Given the description of an element on the screen output the (x, y) to click on. 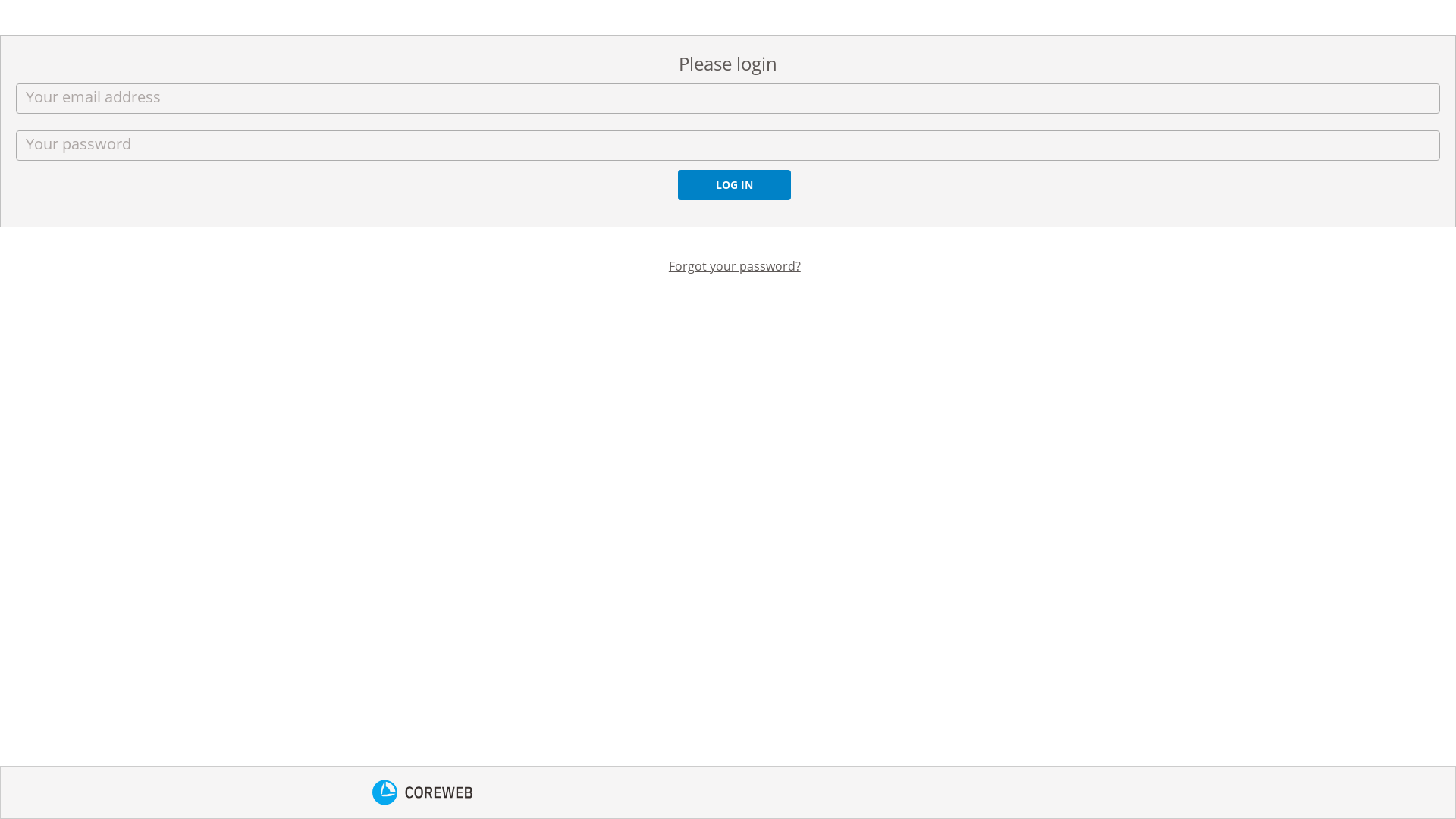
LOG IN Element type: text (733, 184)
core mobile Element type: hover (421, 792)
Forgot your password? Element type: text (734, 265)
